Given the description of an element on the screen output the (x, y) to click on. 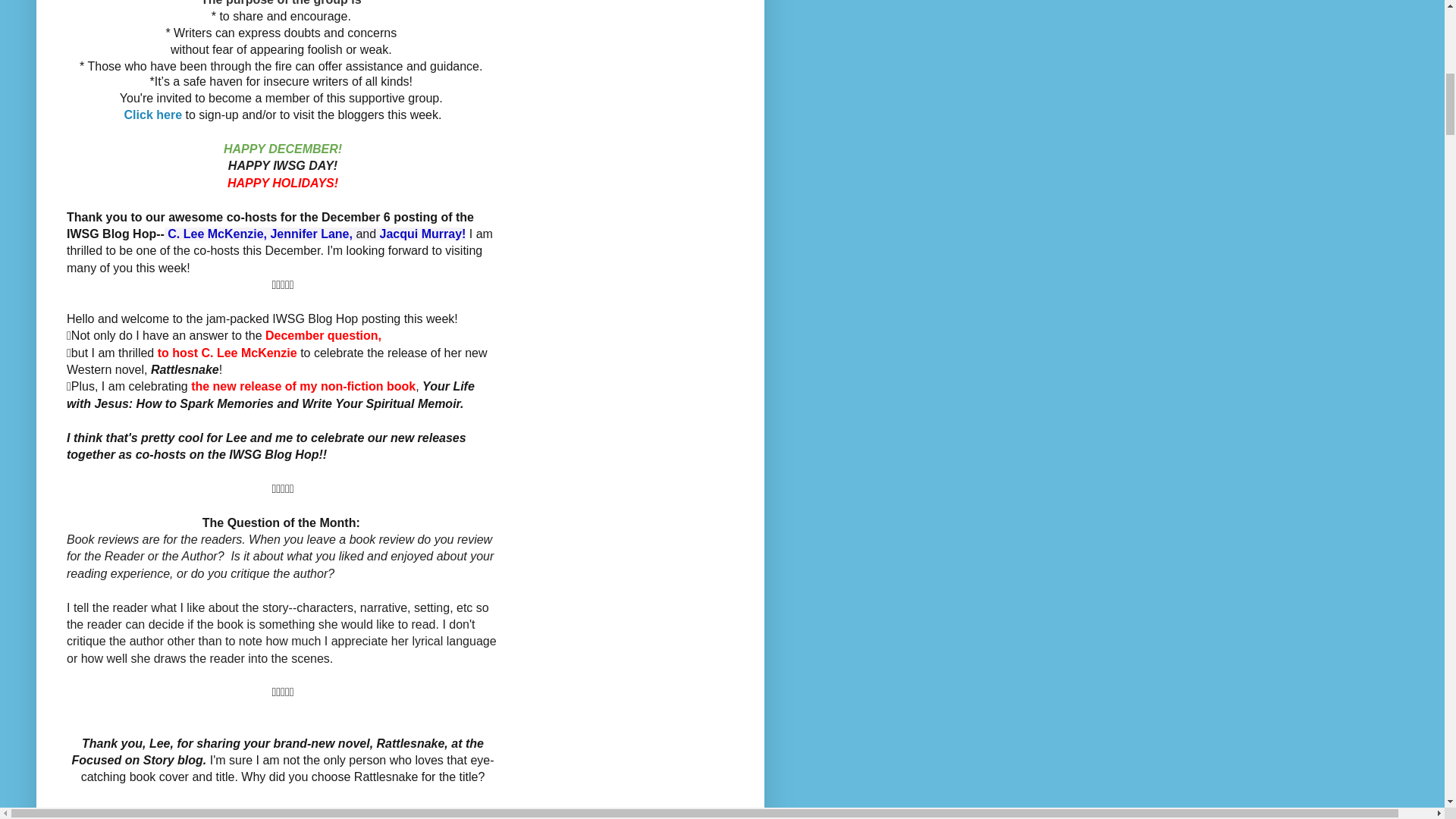
C. Lee McKenzie, (216, 233)
Jennifer Lane, (310, 233)
Click here (152, 114)
Jacqui Murray! (422, 233)
